Given the description of an element on the screen output the (x, y) to click on. 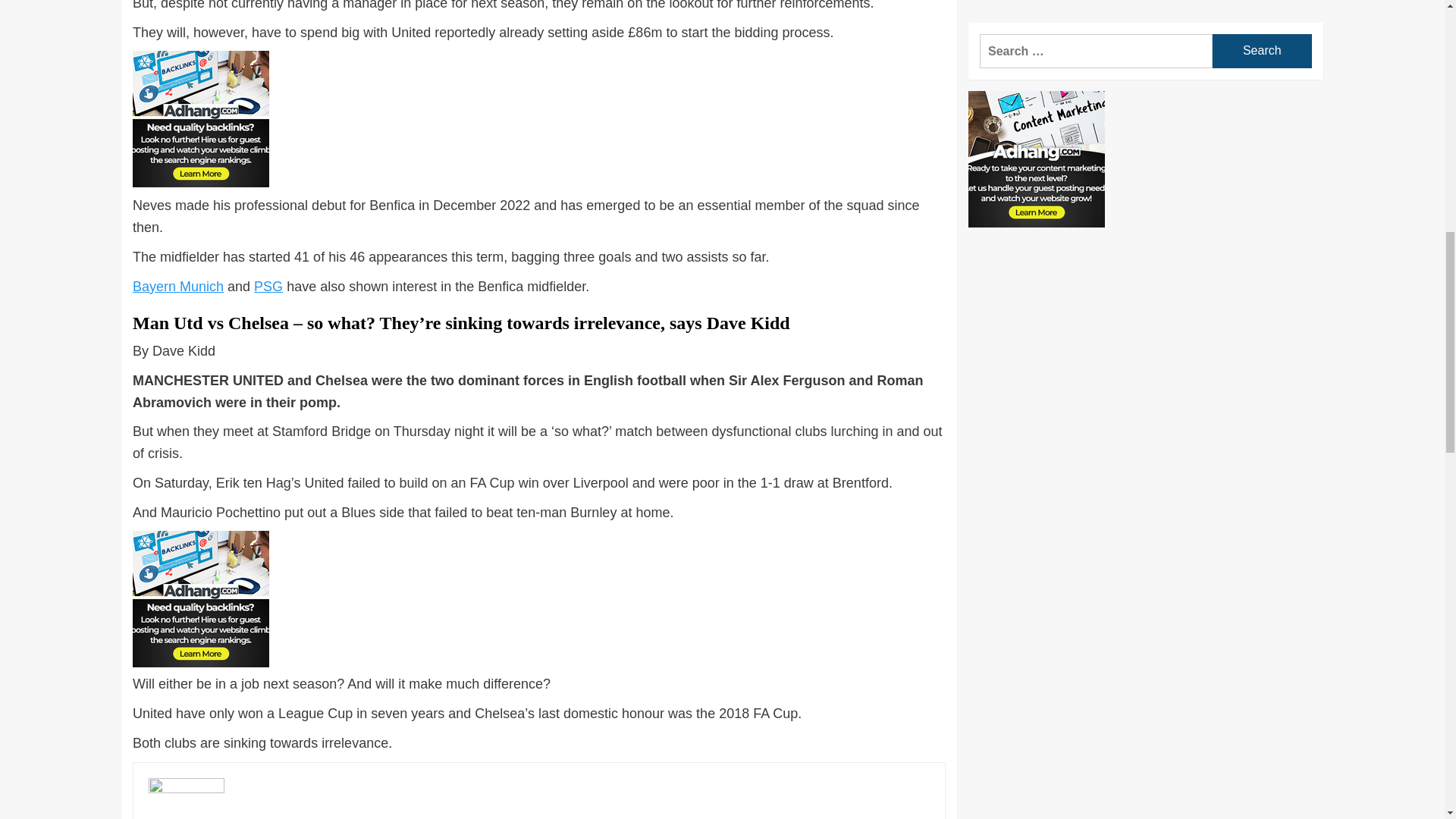
Bayern Munich (178, 286)
PSG (267, 286)
